Given the description of an element on the screen output the (x, y) to click on. 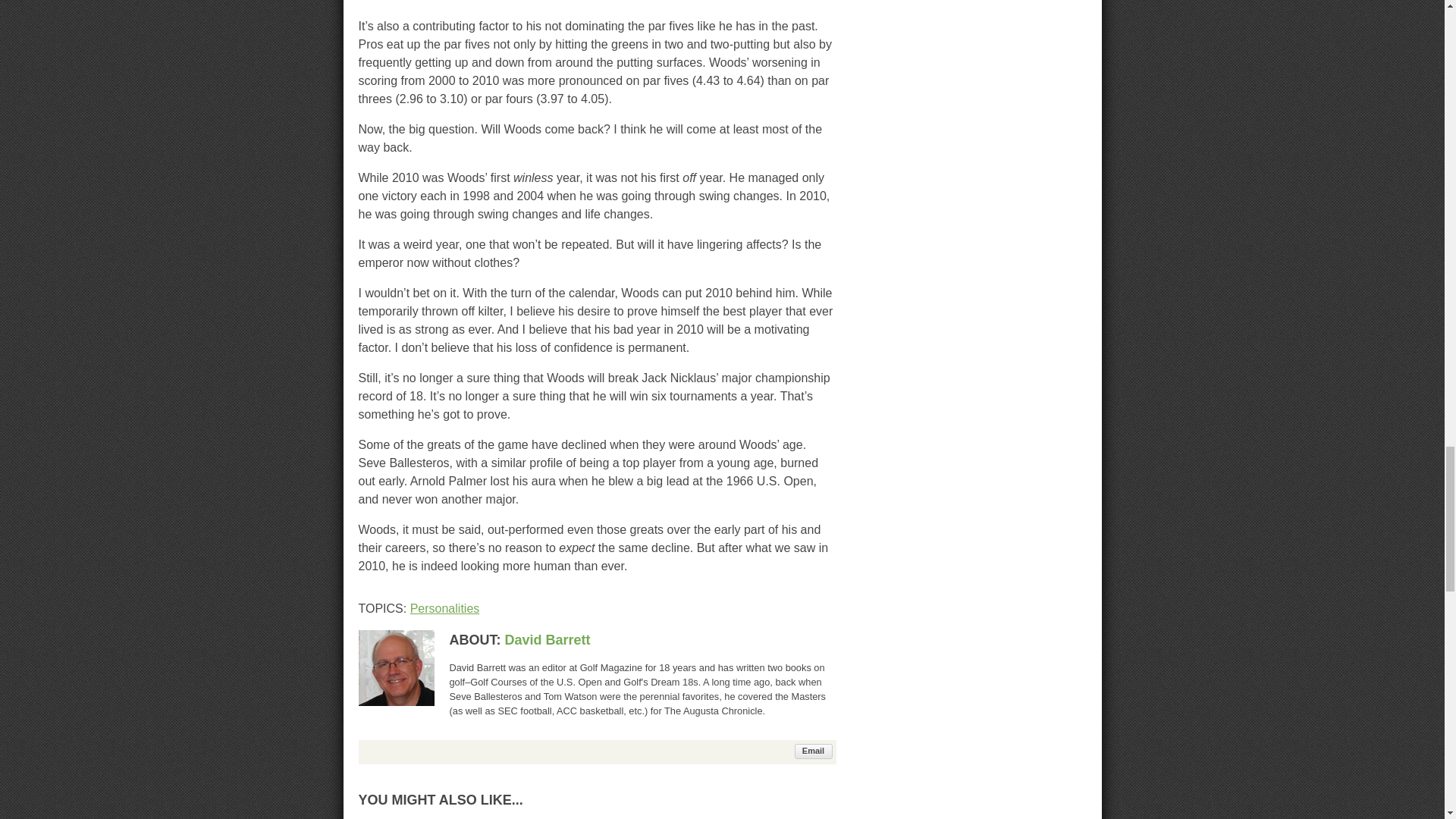
David Barrett (548, 639)
Email (813, 751)
Personalities (445, 608)
